Given the description of an element on the screen output the (x, y) to click on. 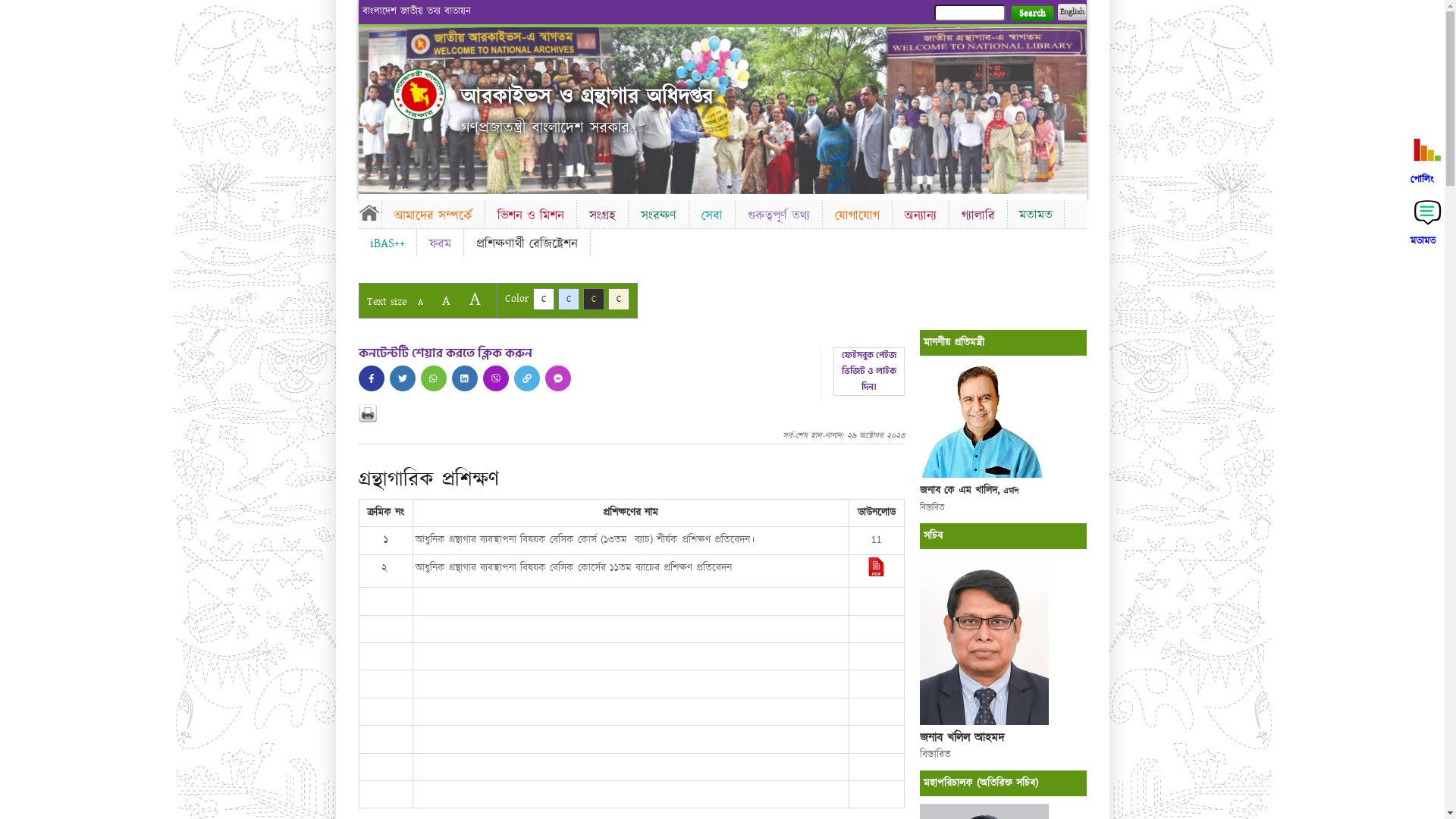
Home Element type: hover (368, 211)
C Element type: text (542, 299)
11 Element type: text (876, 539)
C Element type: text (568, 299)
iBAS++ Element type: text (386, 243)
C Element type: text (618, 299)
Search Element type: text (1031, 13)
English Element type: text (1071, 11)
A Element type: text (445, 300)
A Element type: text (474, 298)
Home Element type: hover (418, 93)
A Element type: text (419, 301)
C Element type: text (592, 299)
